Given the description of an element on the screen output the (x, y) to click on. 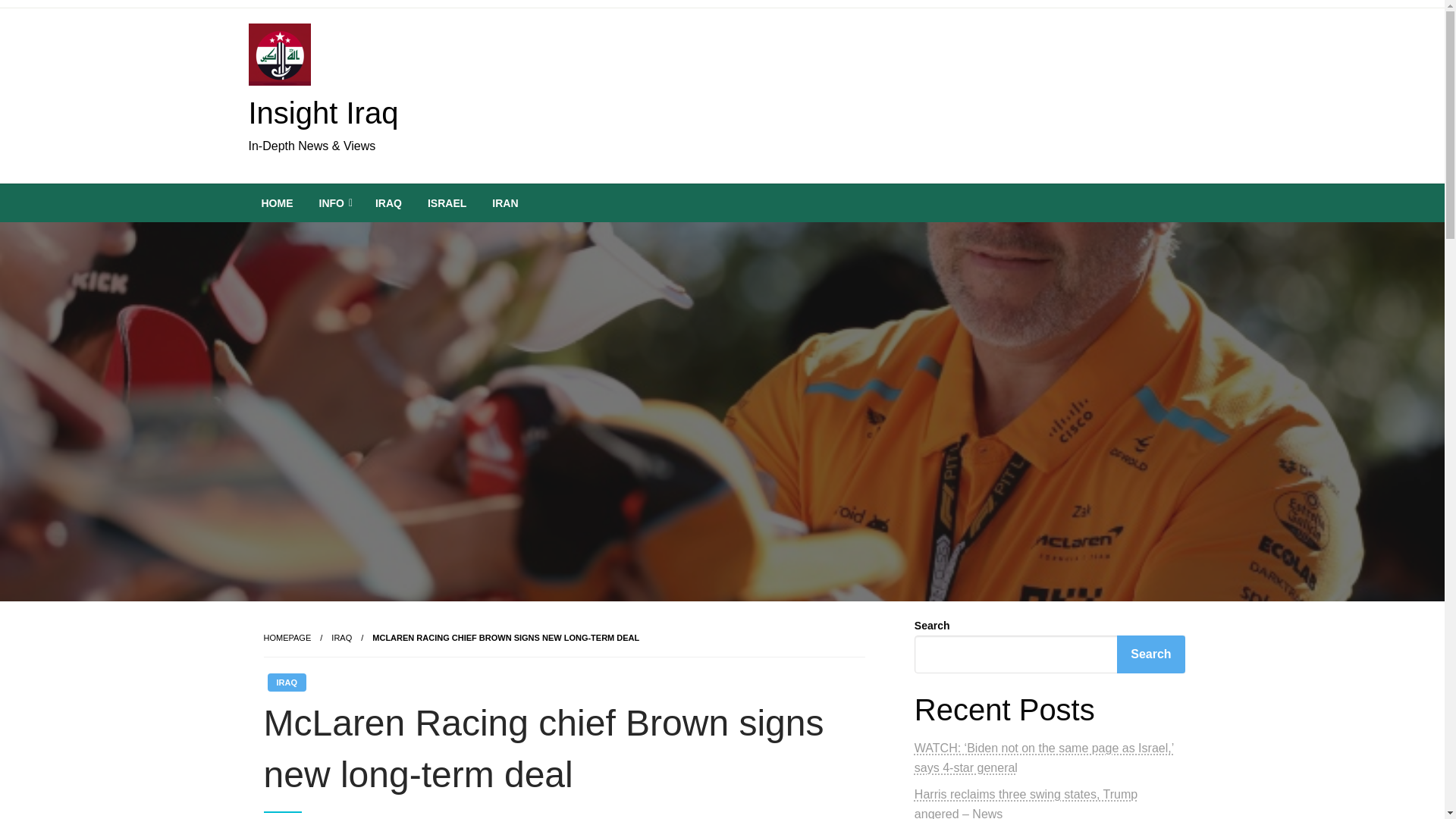
HOMEPAGE (287, 637)
HOME (276, 202)
IRAQ (388, 202)
INFO (333, 202)
IRAN (505, 202)
ISRAEL (446, 202)
Iraq (341, 637)
Insight Iraq (323, 112)
IRAQ (341, 637)
McLaren Racing chief Brown signs new long-term deal (505, 637)
